Given the description of an element on the screen output the (x, y) to click on. 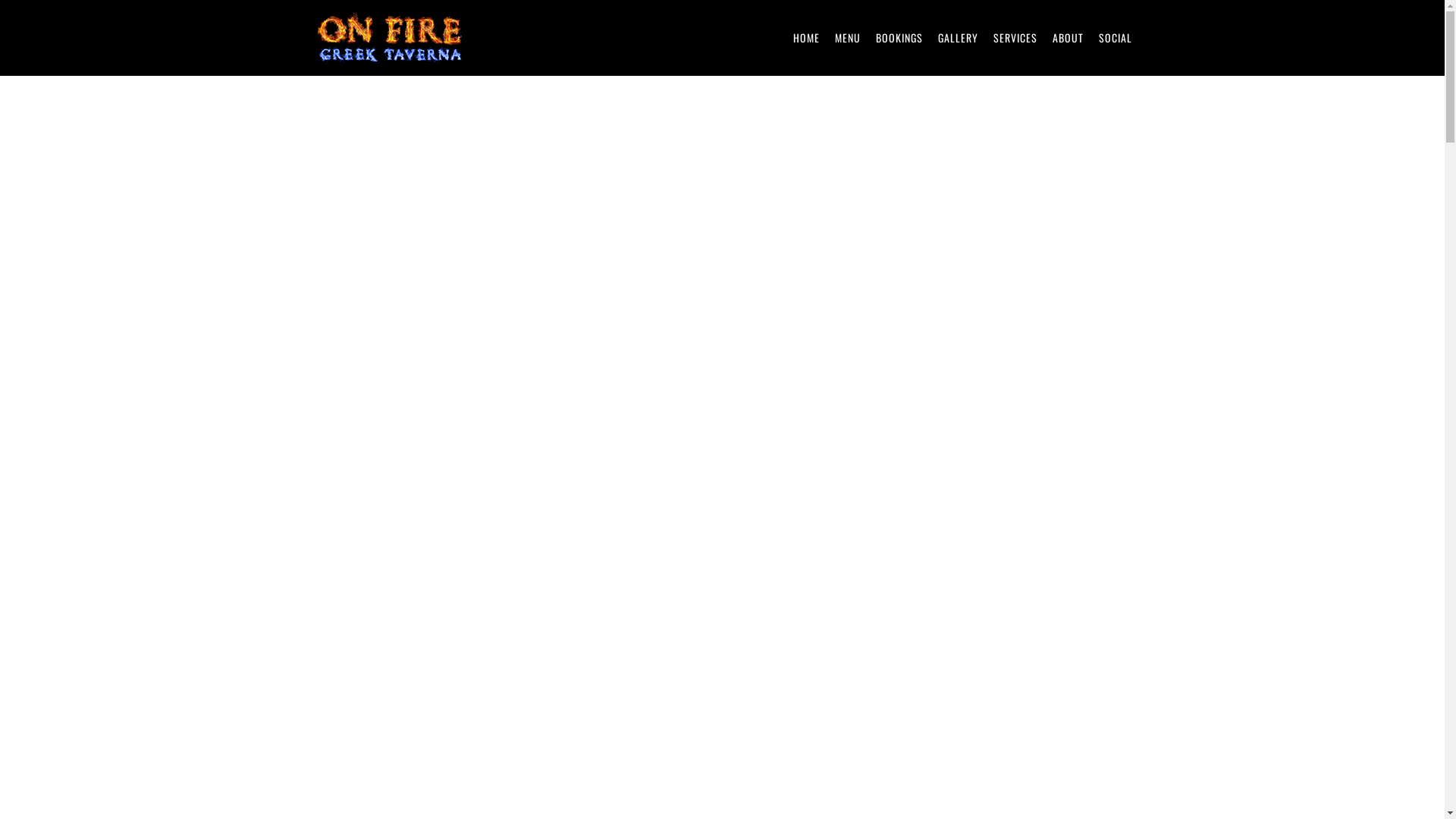
SHOP 12 17 ALBERT AVE BROADBEACH, GOLD COAST QLD 4218 Element type: text (722, 435)
TEL: 0414 434 177 Element type: text (722, 465)
BOOKINGS Element type: text (898, 37)
SERVICES Element type: text (1015, 37)
HOME Element type: text (806, 37)
MENU Element type: text (846, 37)
SOCIAL Element type: text (1114, 37)
GALLERY Element type: text (957, 37)
ABOUT Element type: text (1067, 37)
THE BEST GREEK FOOD OUTSIDE OF GREECE Element type: text (938, 413)
